Given the description of an element on the screen output the (x, y) to click on. 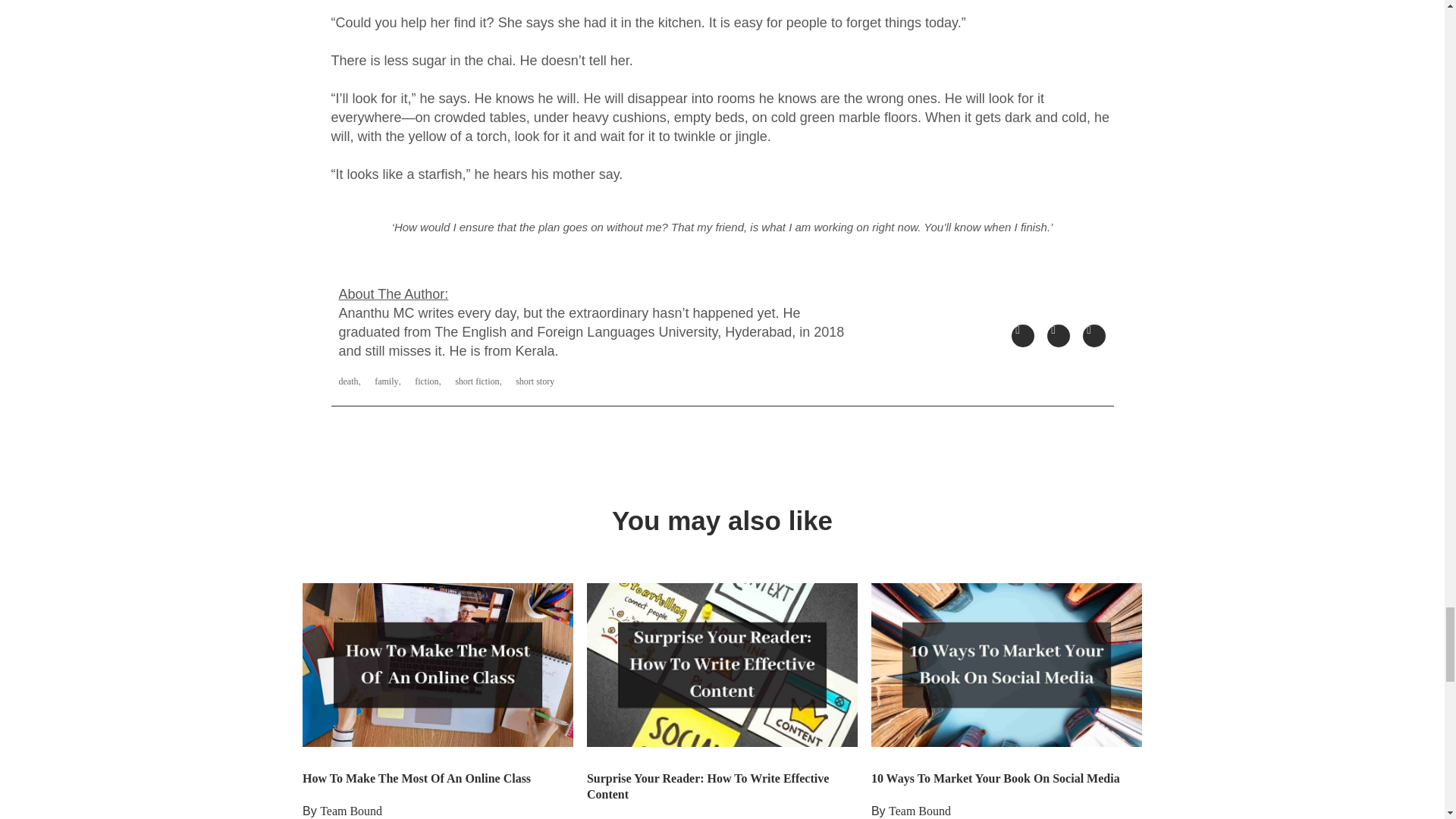
Posts by Team Bound (919, 810)
Posts by Team Bound (350, 810)
